Given the description of an element on the screen output the (x, y) to click on. 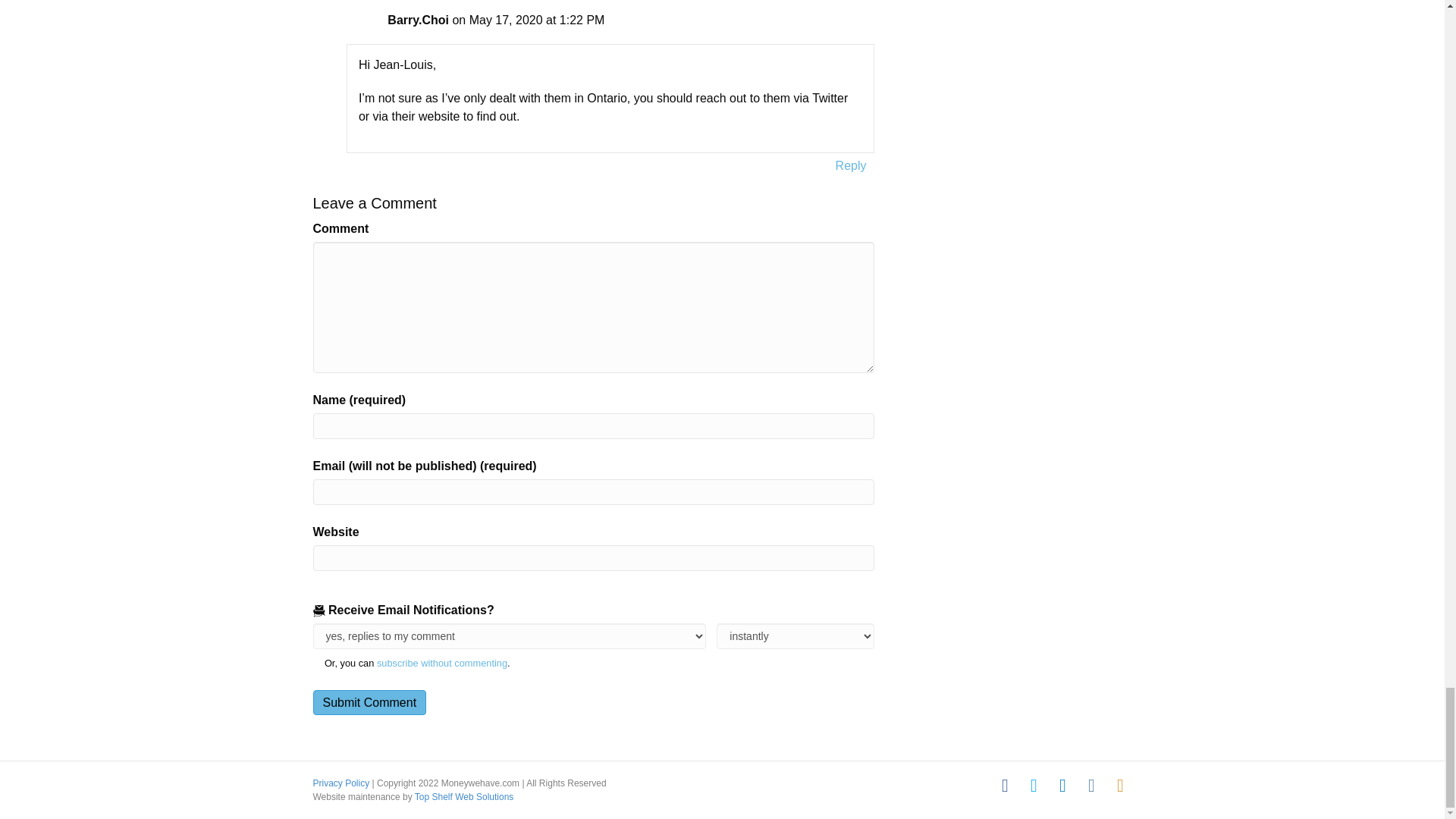
Notify Me (794, 636)
Receive Notifications? (508, 636)
Submit Comment (369, 702)
